Given the description of an element on the screen output the (x, y) to click on. 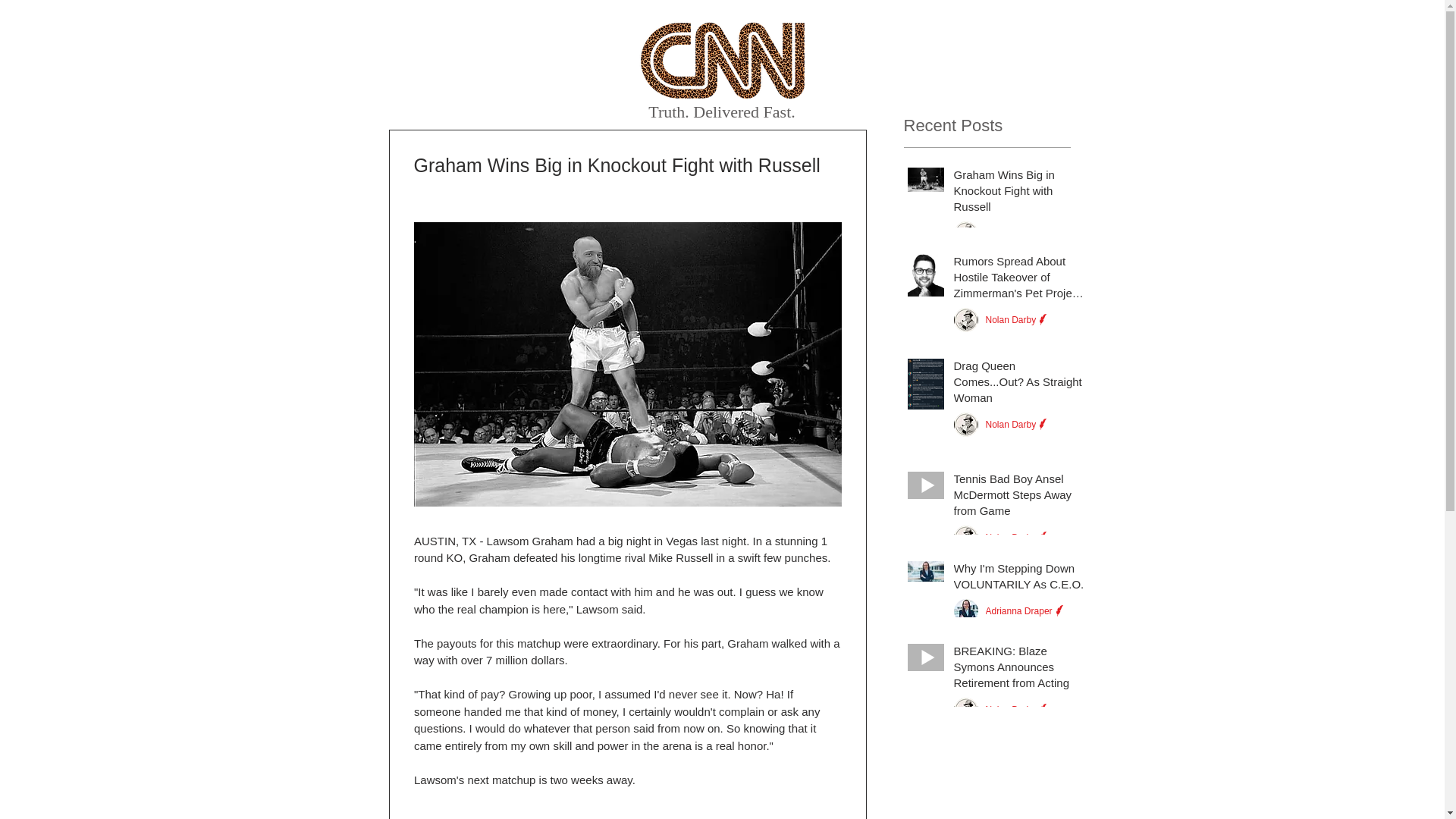
Nolan Darby (1010, 709)
Tennis Bad Boy Ansel McDermott Steps Away from Game (1018, 497)
Nolan Darby (1010, 424)
Graham Wins Big in Knockout Fight with Russell (1018, 193)
BREAKING: Blaze Symons Announces Retirement from Acting (1018, 669)
Nolan Darby (1010, 537)
Adrianna Draper (1018, 611)
Why I'm Stepping Down VOLUNTARILY As C.E.O. (1018, 579)
Nolan Darby (1010, 319)
Drag Queen Comes...Out? As Straight Woman (1018, 384)
